Given the description of an element on the screen output the (x, y) to click on. 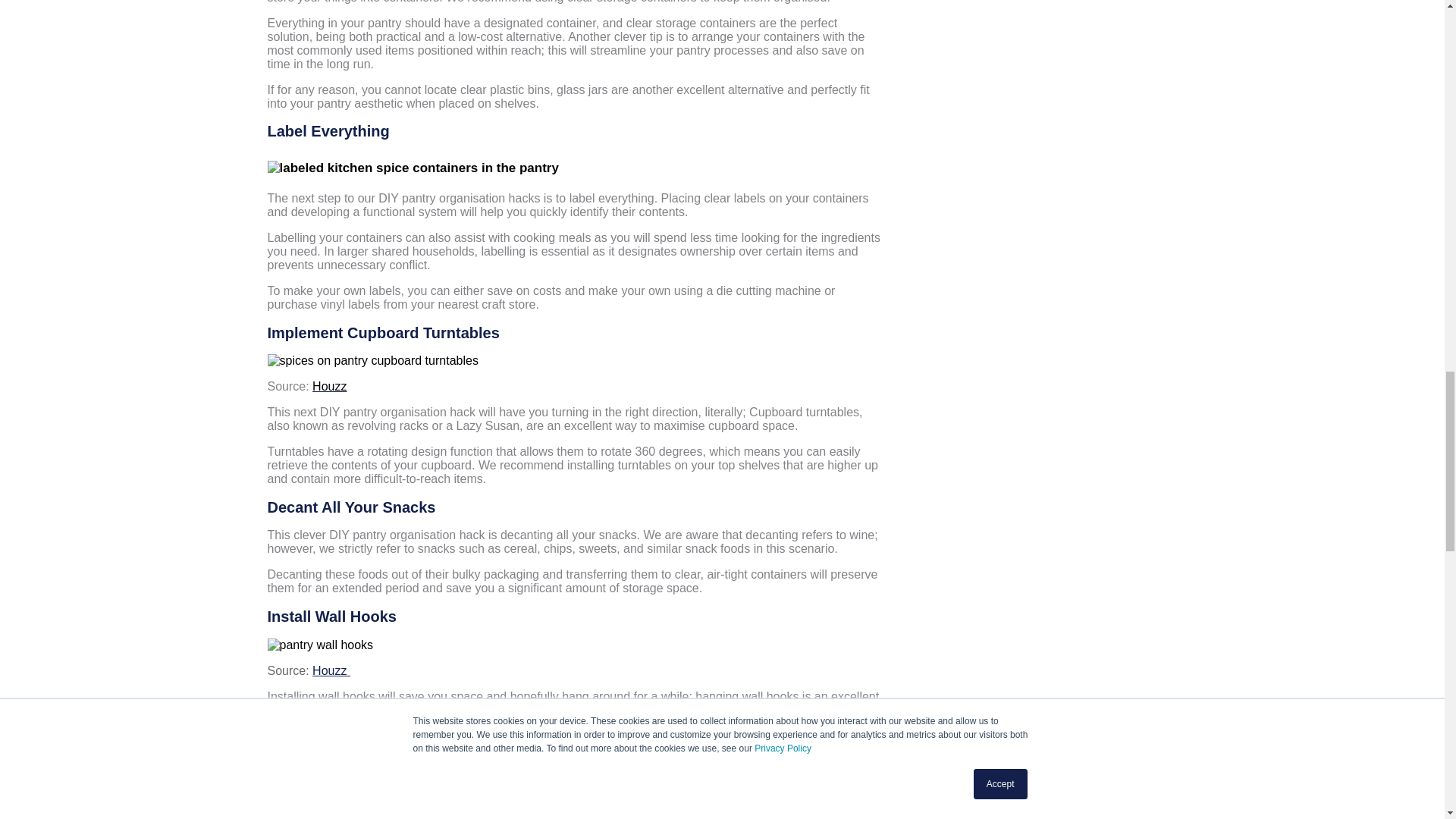
Houzz (329, 386)
Houzz  (331, 670)
